Given the description of an element on the screen output the (x, y) to click on. 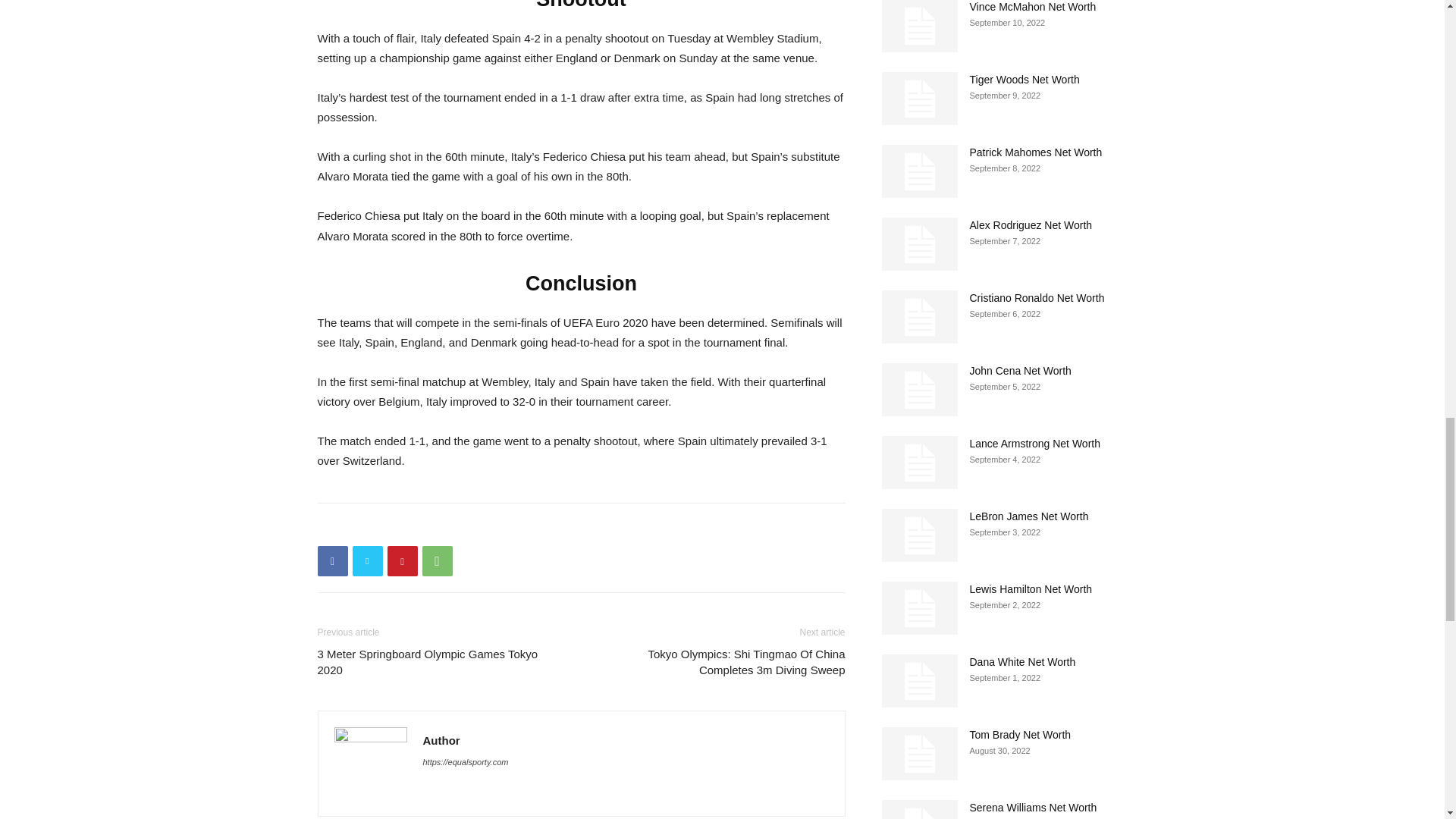
Twitter (366, 561)
WhatsApp (436, 561)
Pinterest (401, 561)
Facebook (332, 561)
3 Meter Springboard Olympic Games Tokyo 2020 (439, 662)
